Given the description of an element on the screen output the (x, y) to click on. 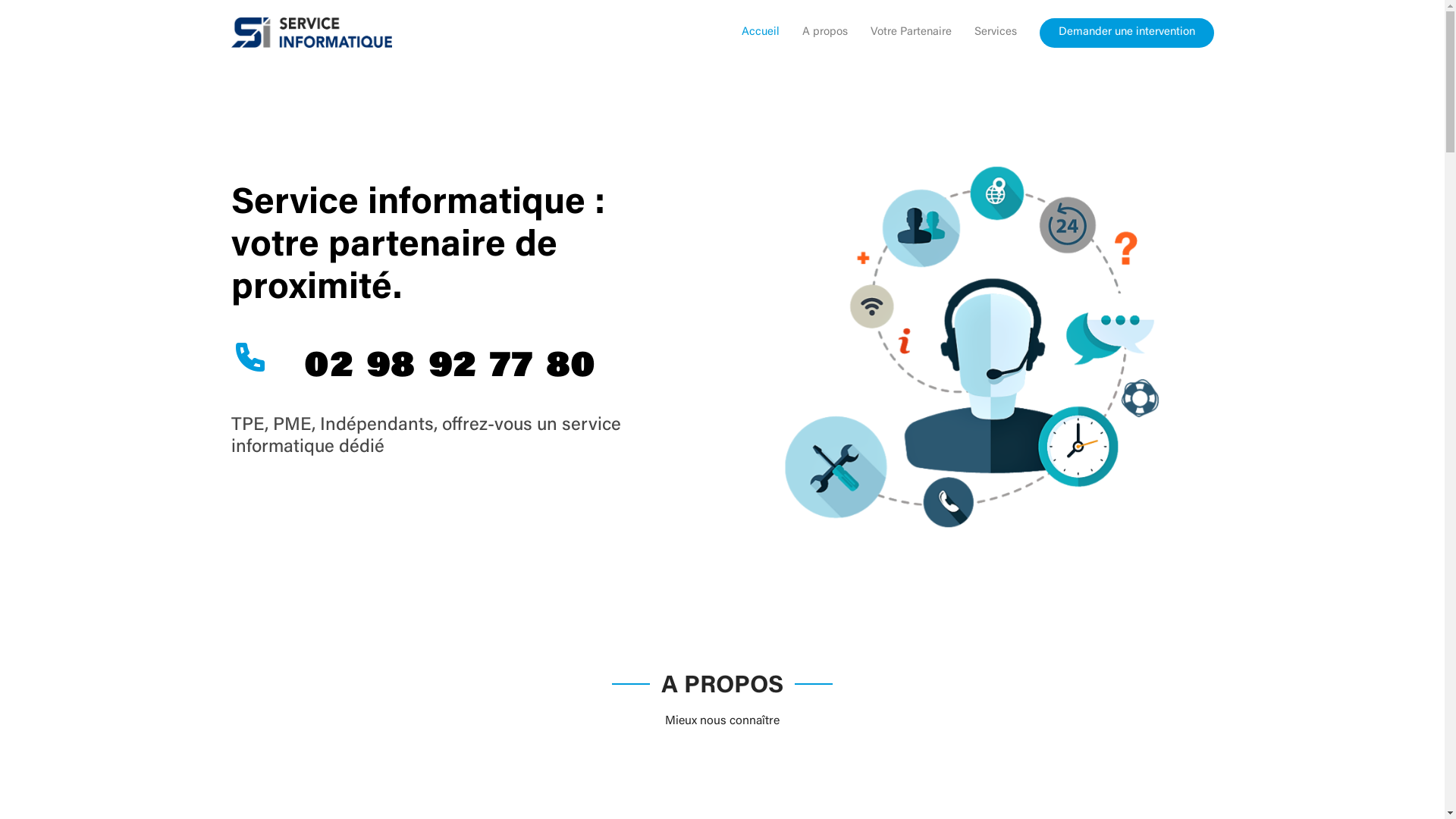
Votre Partenaire Element type: text (899, 32)
Accueil Element type: text (748, 32)
Services Element type: text (983, 32)
Demander une intervention Element type: text (1125, 32)
A propos Element type: text (813, 32)
